Given the description of an element on the screen output the (x, y) to click on. 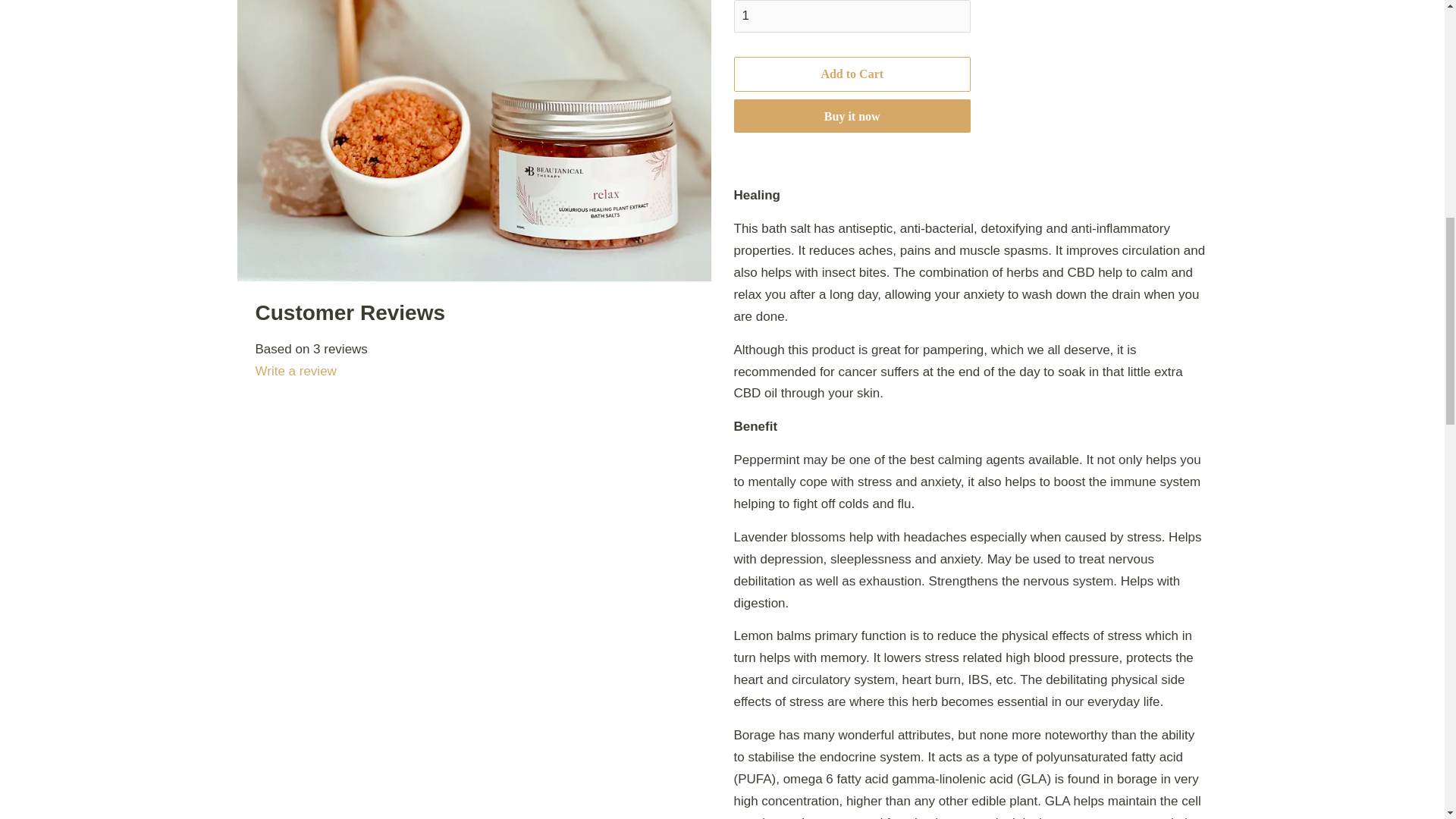
Buy it now (852, 115)
Write a review (473, 372)
1 (852, 15)
Add to Cart (852, 74)
